Given the description of an element on the screen output the (x, y) to click on. 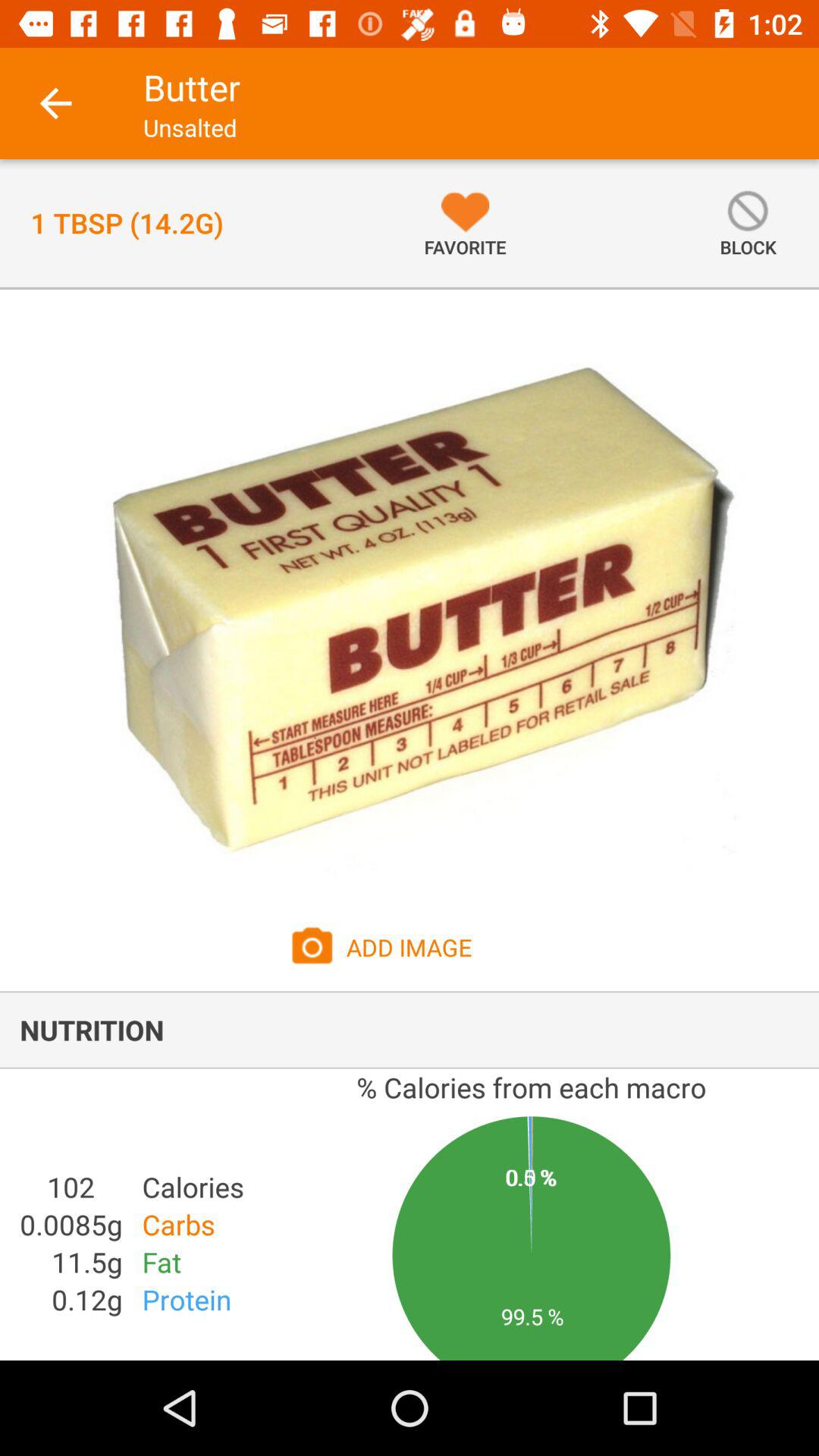
click icon to the left of the block icon (464, 223)
